Given the description of an element on the screen output the (x, y) to click on. 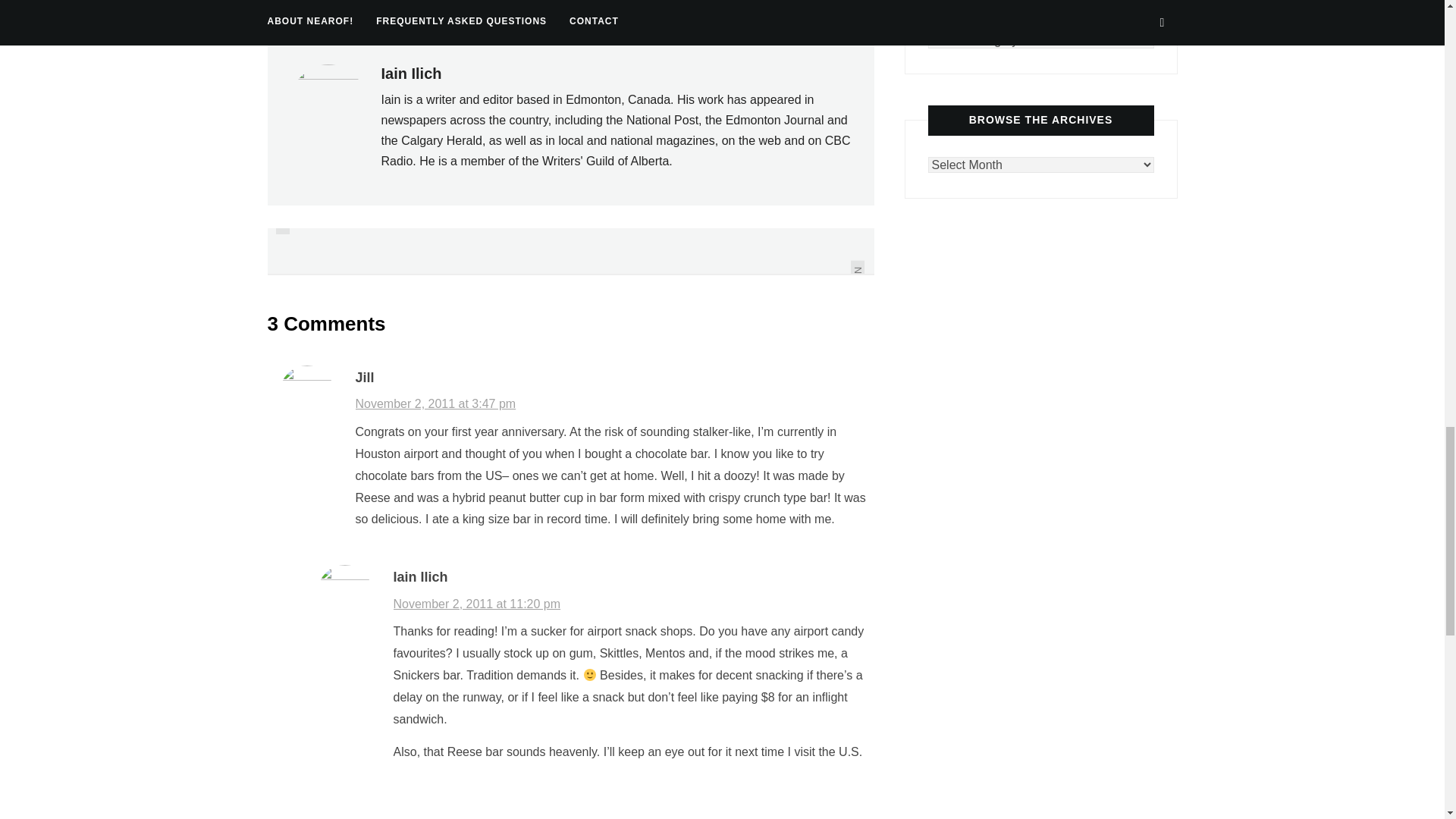
Posts by Iain Ilich (410, 73)
November 2, 2011 at 3:47 pm (435, 403)
Iain Ilich (410, 73)
thank you (305, 7)
